Given the description of an element on the screen output the (x, y) to click on. 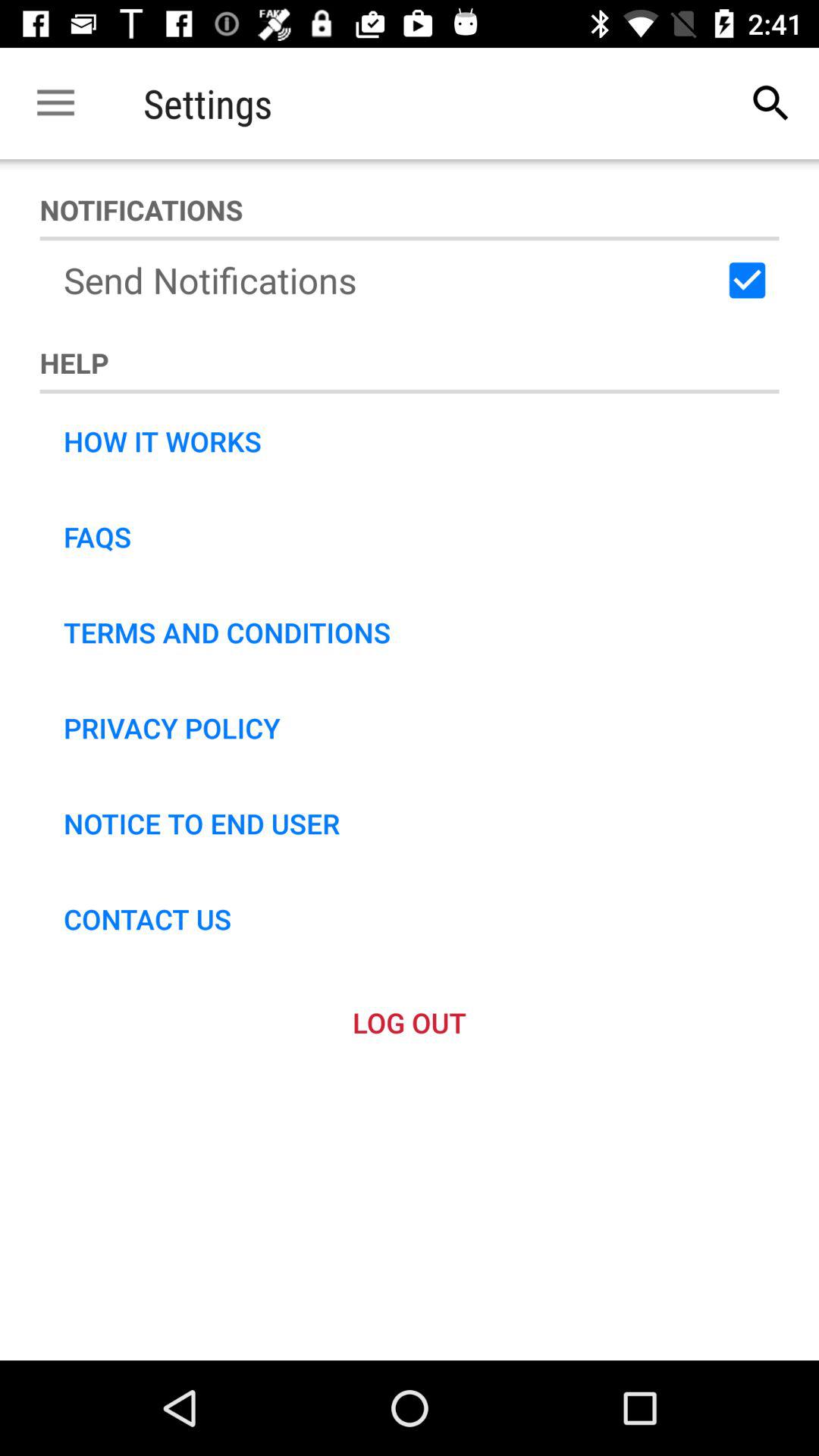
open the item below the how it works (97, 536)
